Given the description of an element on the screen output the (x, y) to click on. 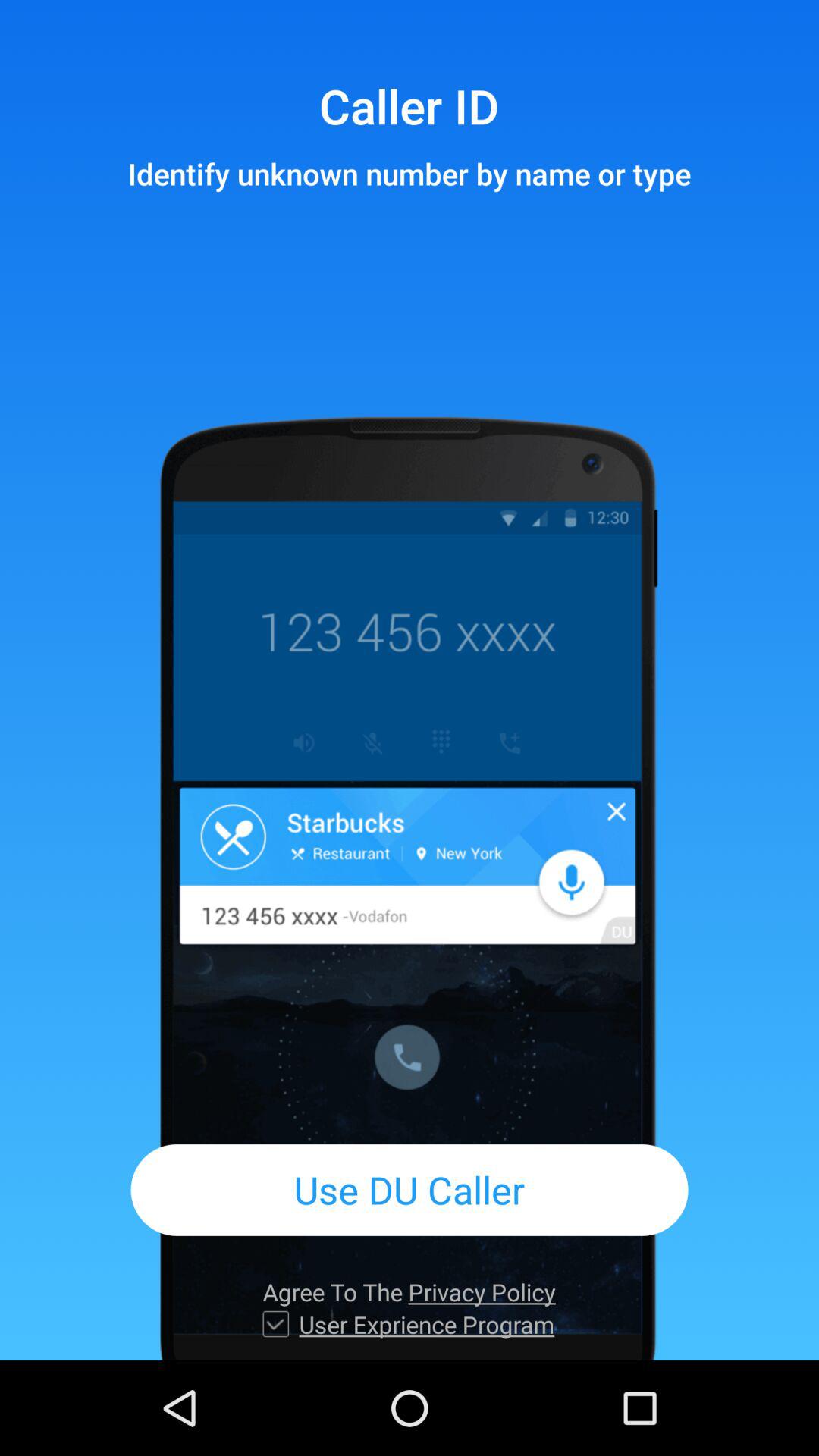
press the use du caller (409, 1189)
